Given the description of an element on the screen output the (x, y) to click on. 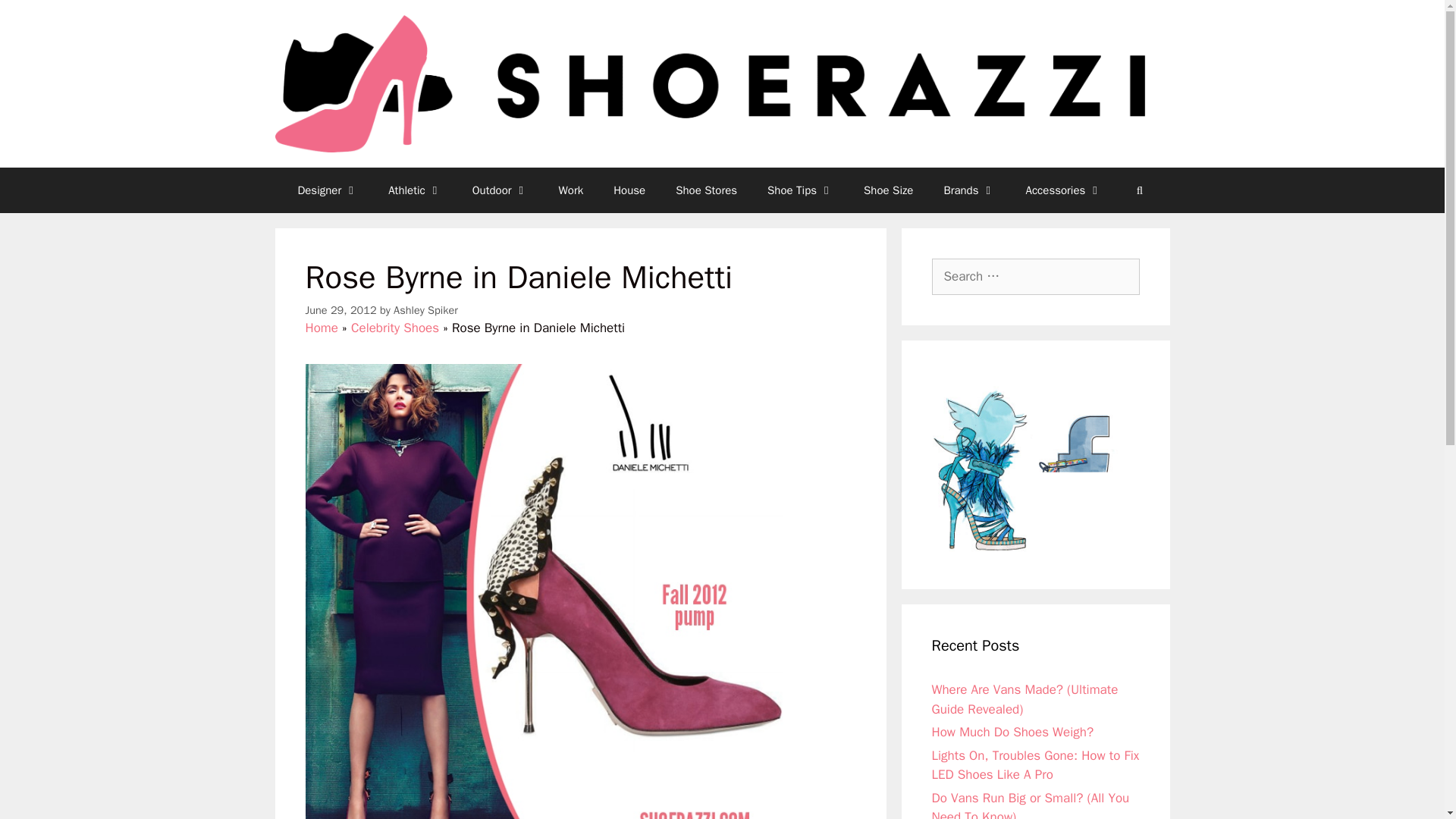
View all posts by Ashley Spiker (425, 309)
Shoe Tips (800, 189)
Athletic (414, 189)
Shoe Size (888, 189)
Search for: (1034, 276)
Designer (327, 189)
Brands (969, 189)
Work (570, 189)
Shoe Stores (706, 189)
